Given the description of an element on the screen output the (x, y) to click on. 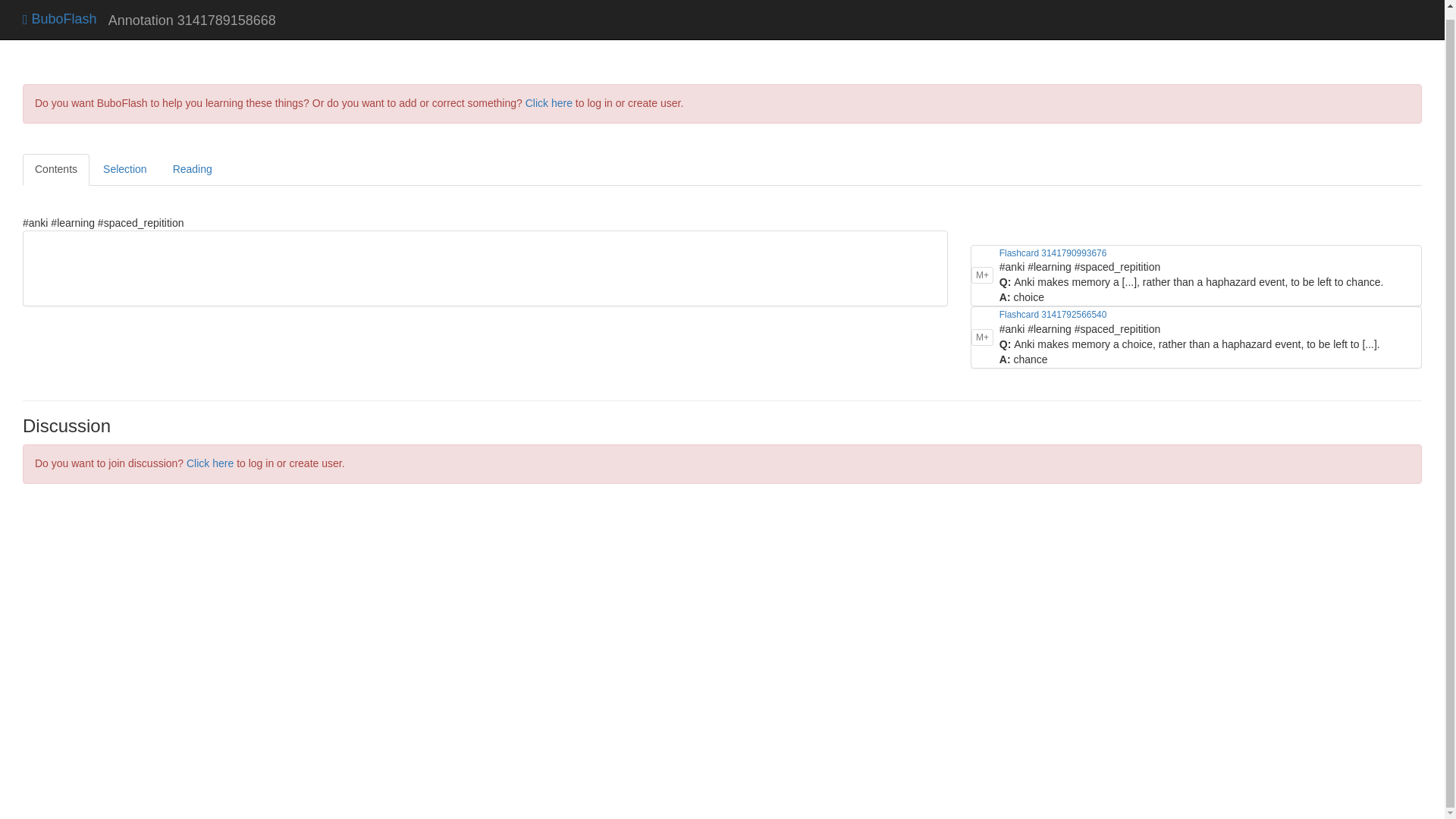
Flashcard 3141790993676 (1052, 253)
BuboFlash (60, 10)
Log in to memorise (981, 337)
Click here (548, 102)
Flashcard 3141792566540 (1052, 314)
Log in to memorise (981, 274)
Contents (55, 169)
Selection (124, 169)
Click here (209, 463)
Reading (192, 169)
